Given the description of an element on the screen output the (x, y) to click on. 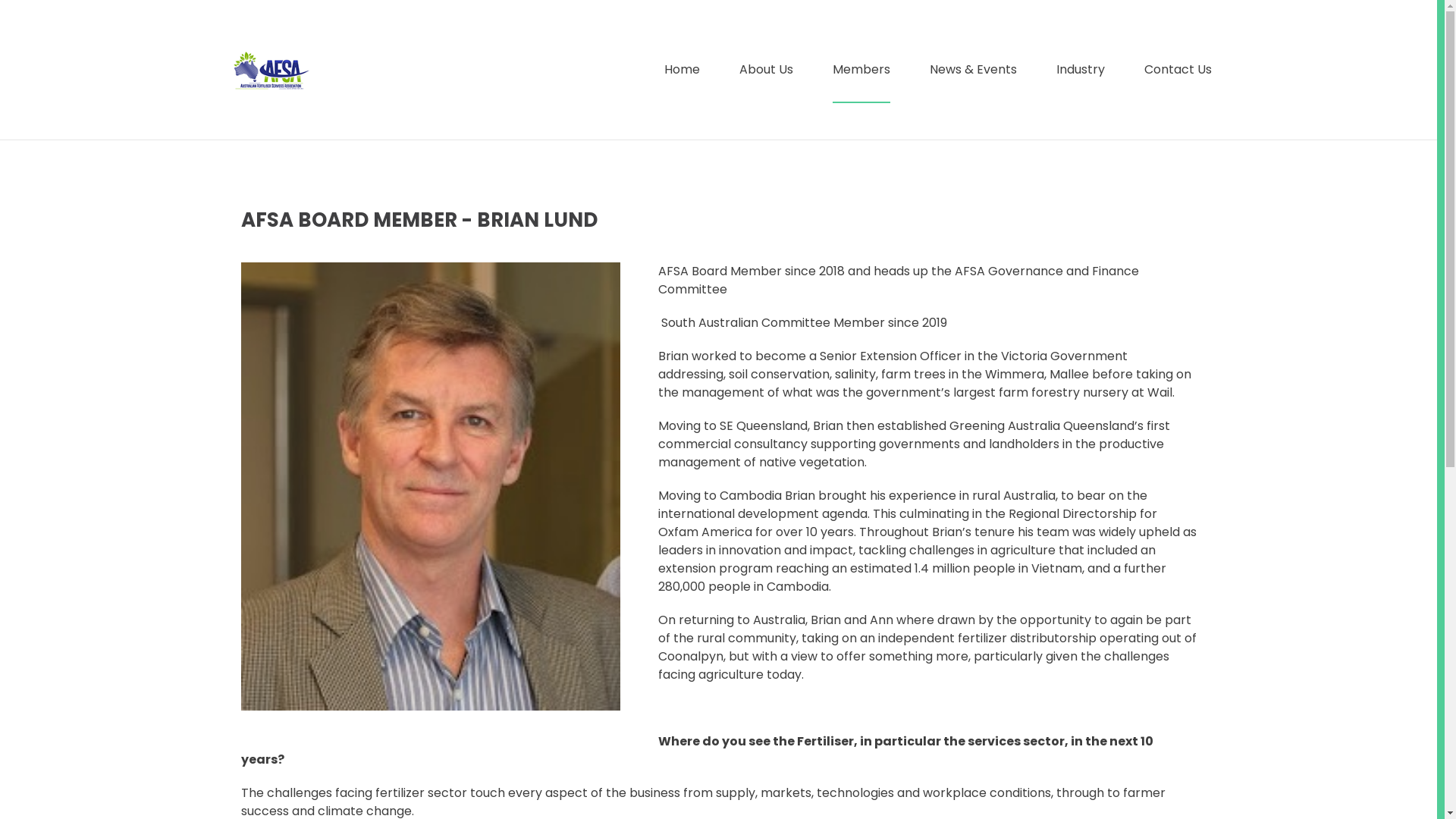
Contact Us Element type: text (1176, 69)
Industry Element type: text (1079, 69)
News & Events Element type: text (973, 69)
About Us Element type: text (765, 69)
Members Element type: text (861, 69)
Home Element type: text (681, 69)
